Given the description of an element on the screen output the (x, y) to click on. 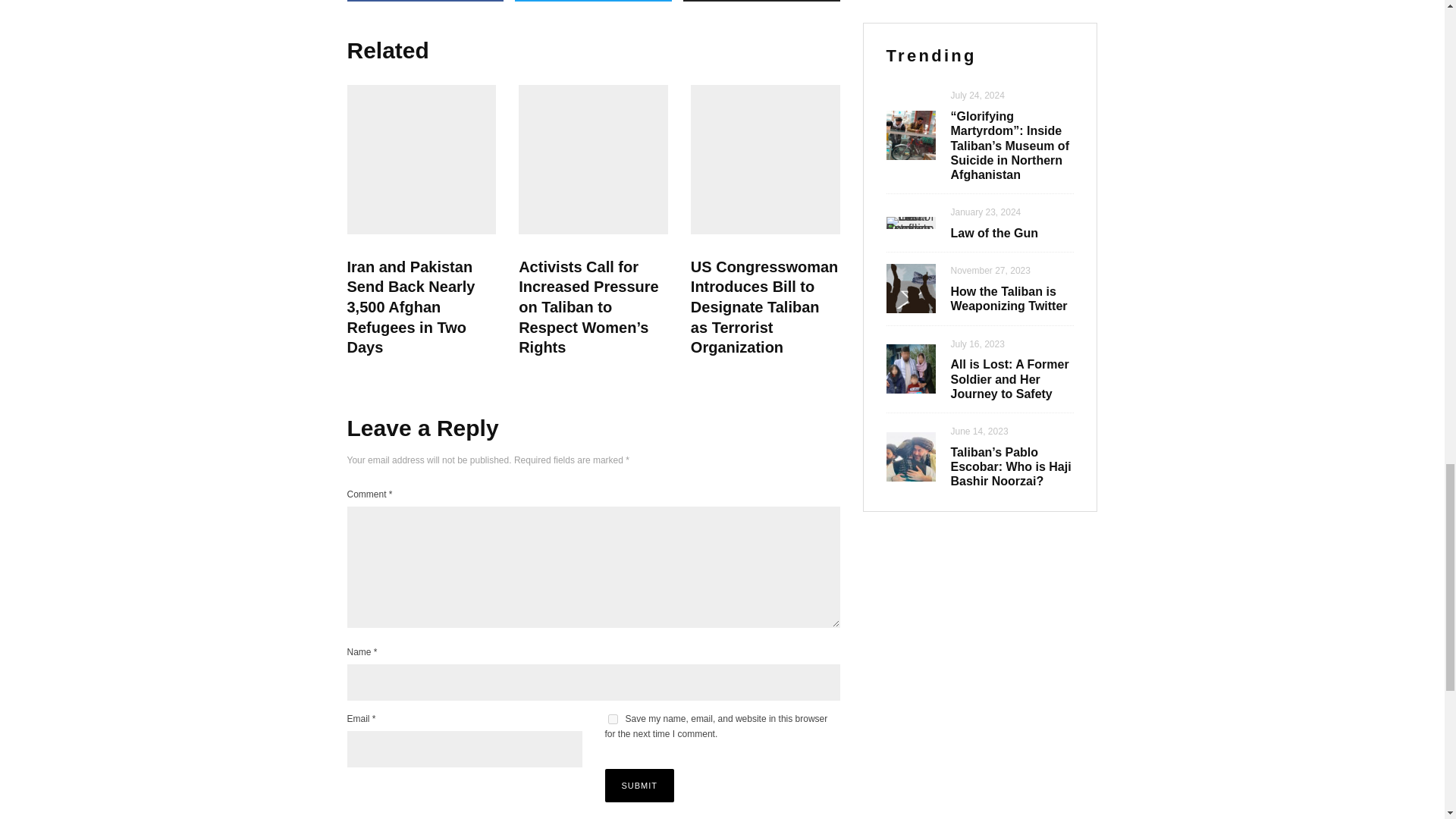
yes (612, 718)
Submit (640, 785)
